Given the description of an element on the screen output the (x, y) to click on. 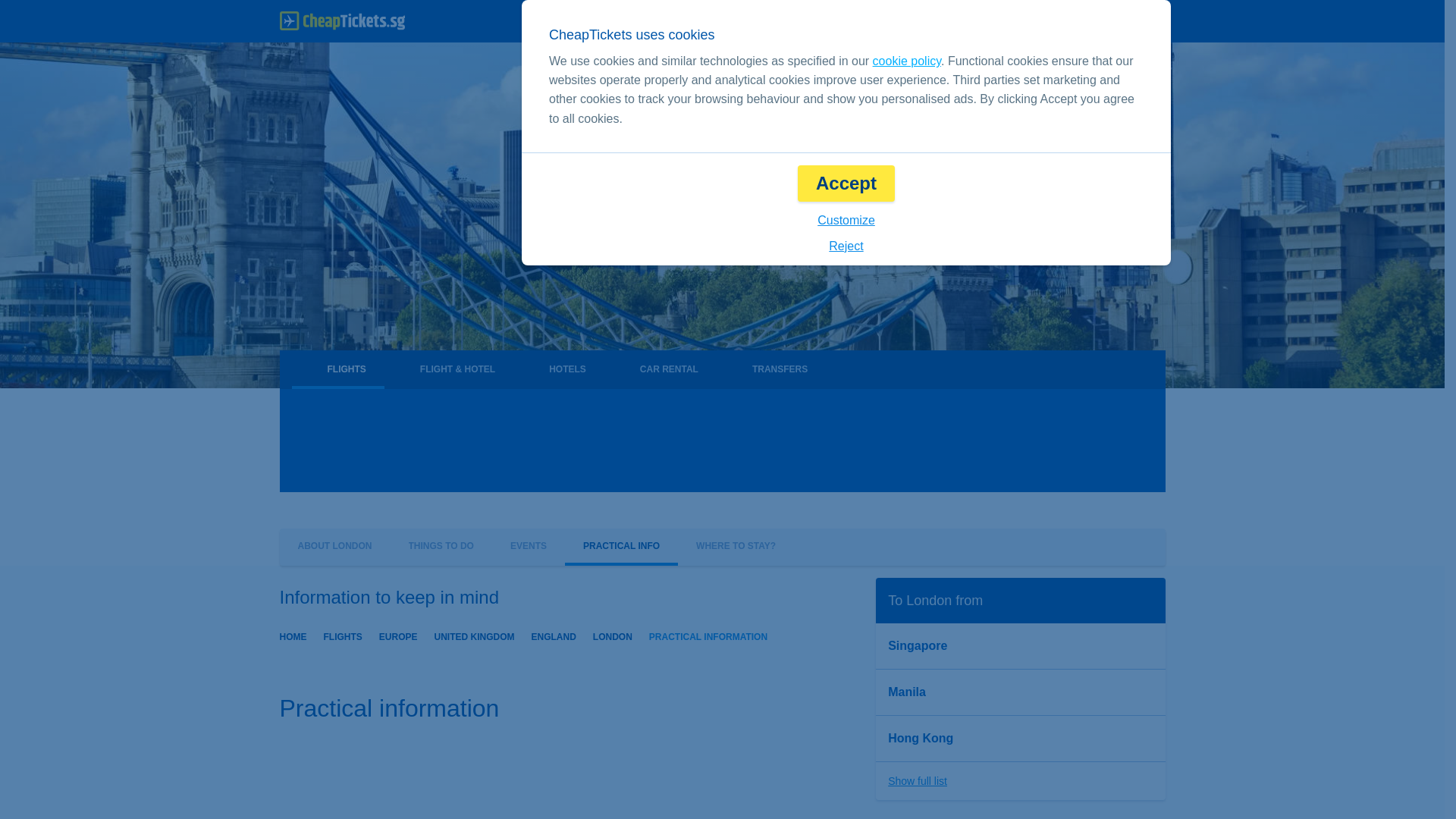
cookie policy (906, 60)
English (902, 21)
EUROPE (397, 635)
Accept (846, 183)
FLIGHTS (342, 635)
UNITED KINGDOM (474, 635)
HOME (292, 635)
LONDON (611, 635)
ENGLAND (553, 635)
My Account (1116, 21)
